Given the description of an element on the screen output the (x, y) to click on. 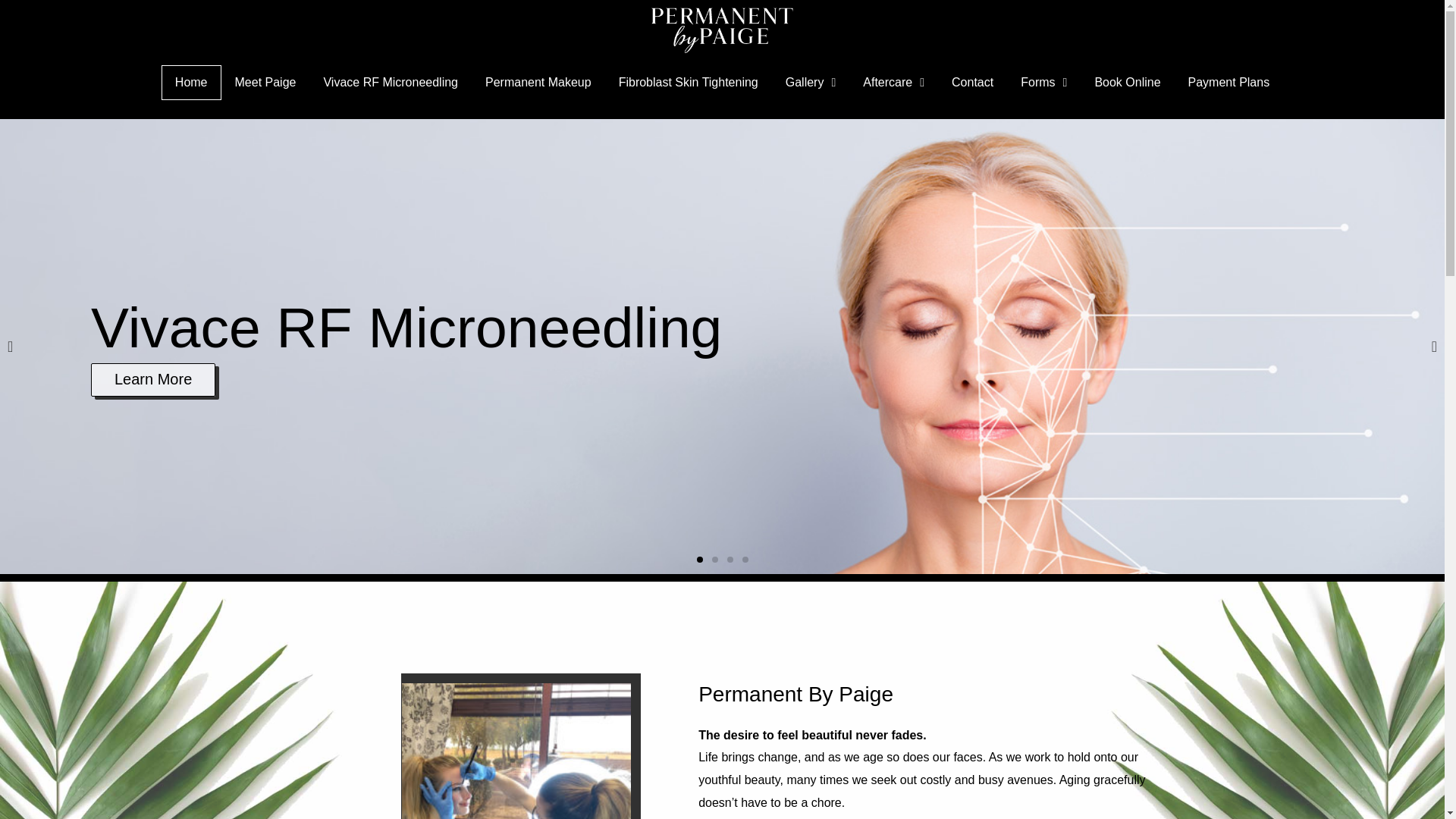
Aftercare (892, 82)
Forms (1043, 82)
Meet Paige (265, 82)
Fibroblast Skin Tightening (688, 82)
Permanent Makeup (538, 82)
Contact (972, 82)
Vivace RF Microneedling (389, 82)
Gallery (810, 82)
Home (191, 82)
